Given the description of an element on the screen output the (x, y) to click on. 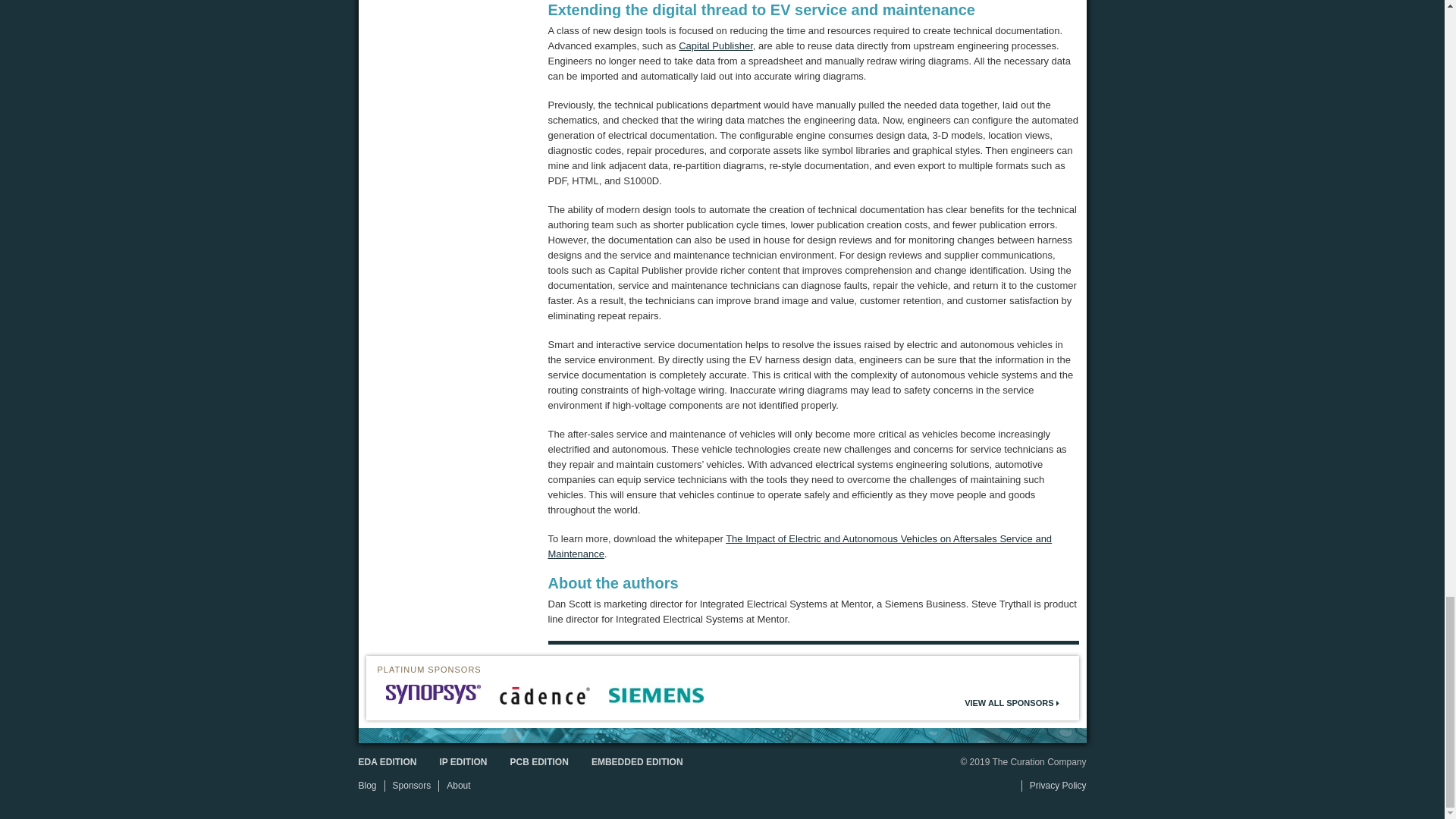
Siemens EDA (655, 695)
Cadence Design Systems (544, 695)
Capital Publisher (715, 45)
Synopsys (432, 693)
